Given the description of an element on the screen output the (x, y) to click on. 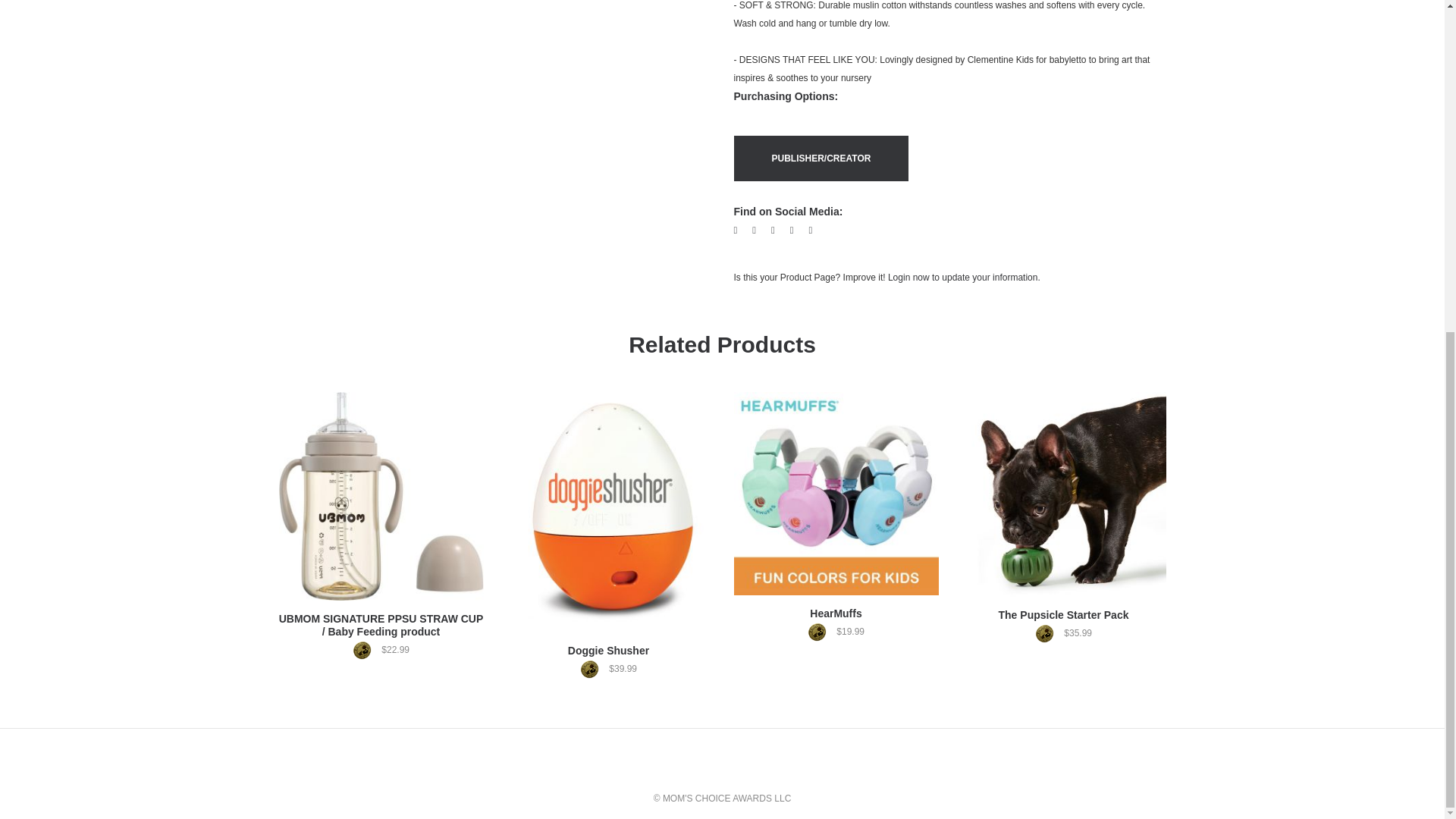
MCA Gold Award (365, 650)
MCA Gold Award (821, 631)
MCA Gold Award (593, 669)
MCA Gold Award (1048, 633)
